Given the description of an element on the screen output the (x, y) to click on. 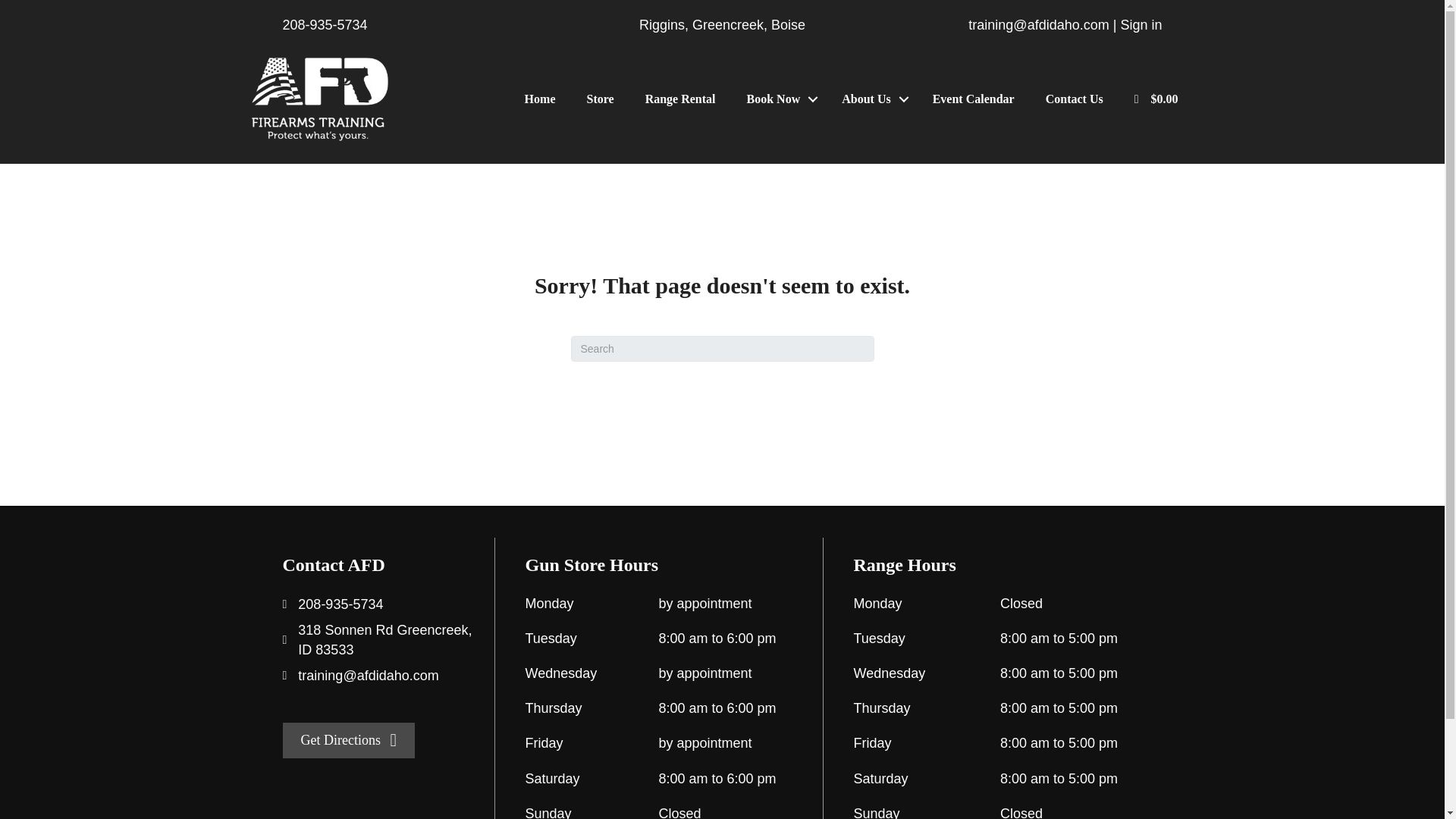
Contact Us (1074, 98)
Event Calendar (973, 98)
208-935-5734 (324, 24)
318 Sonnen Rd Greencreek, ID 83533 (384, 639)
Book Now (779, 98)
Type and press Enter to search. (721, 348)
Store (599, 98)
Home (539, 98)
logo (319, 98)
208-935-5734 (340, 604)
